Given the description of an element on the screen output the (x, y) to click on. 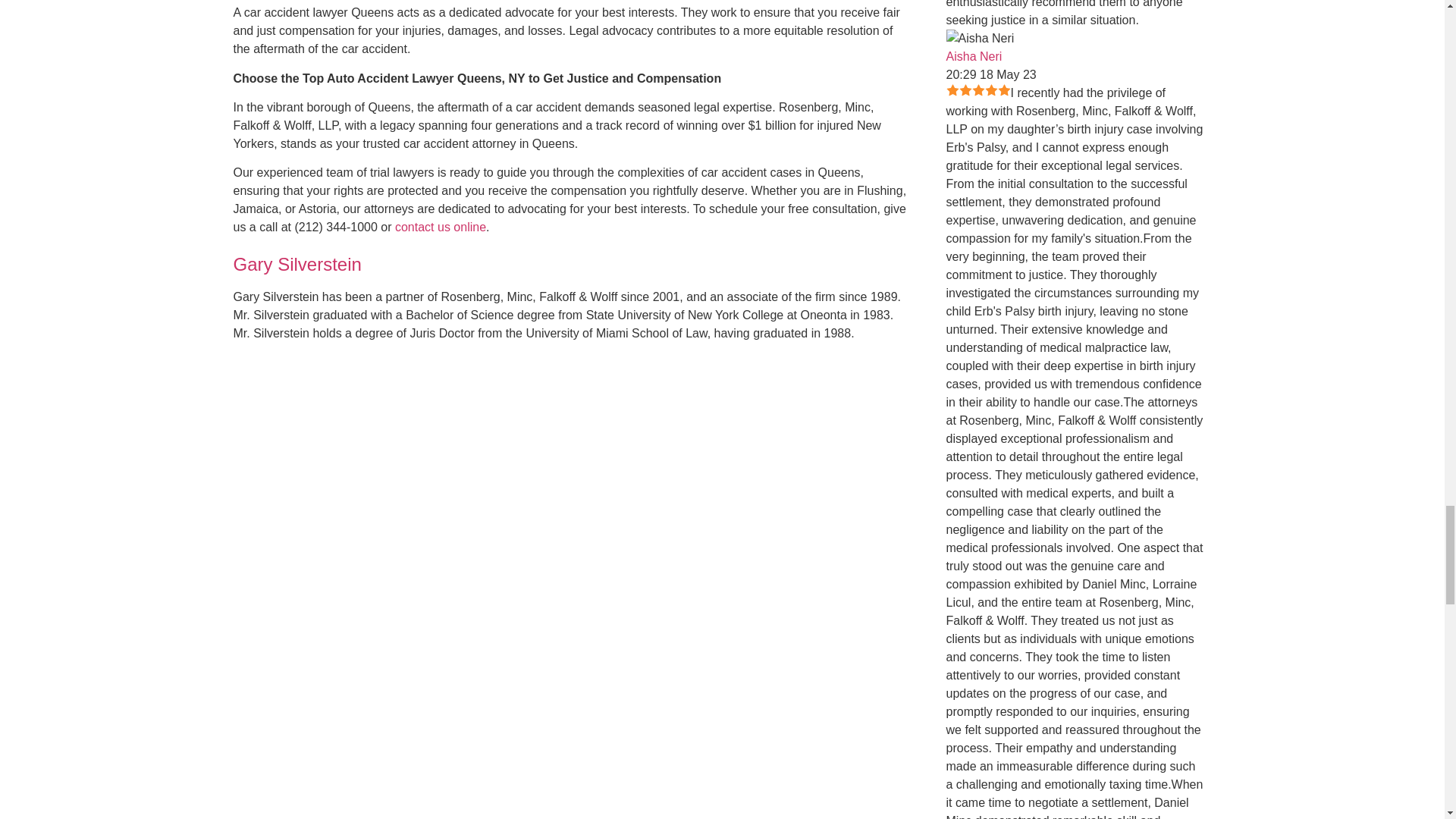
Aisha Neri (980, 38)
